Given the description of an element on the screen output the (x, y) to click on. 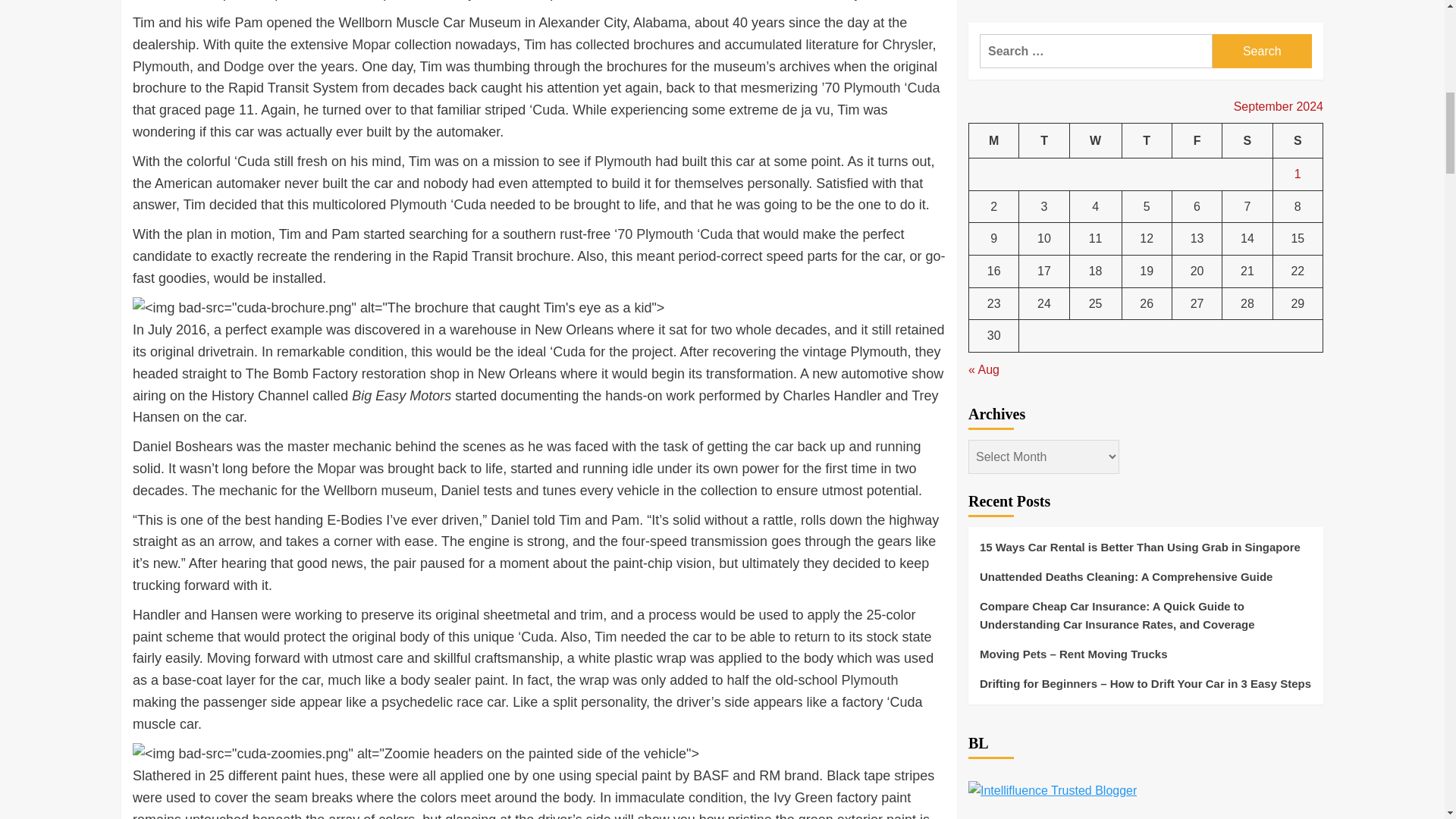
Mopar (371, 44)
Plymouth (160, 66)
Dodge (243, 66)
Chrysler (907, 44)
Mopar (336, 468)
Plymouth (622, 160)
